Given the description of an element on the screen output the (x, y) to click on. 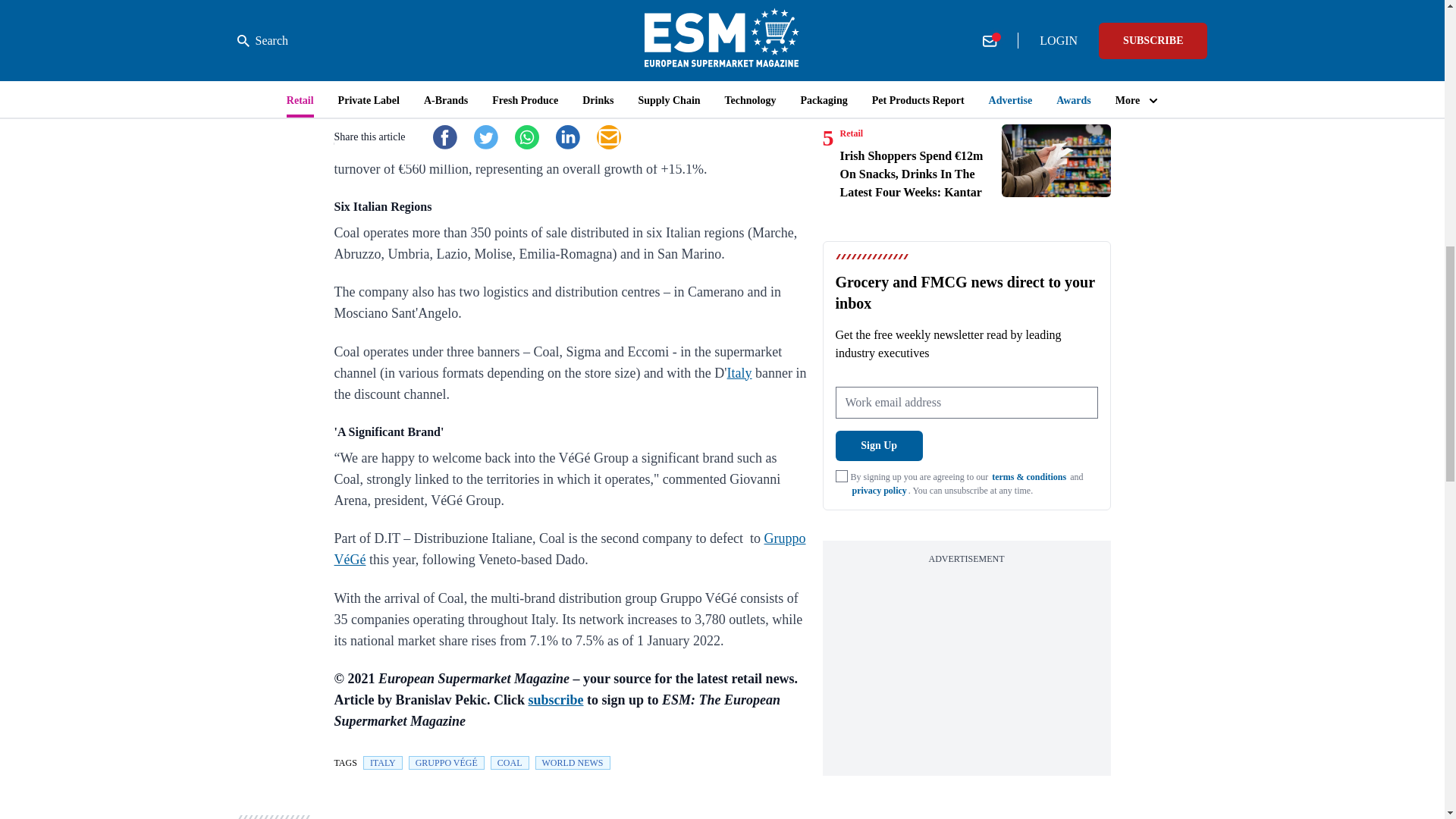
Italy (739, 372)
